Given the description of an element on the screen output the (x, y) to click on. 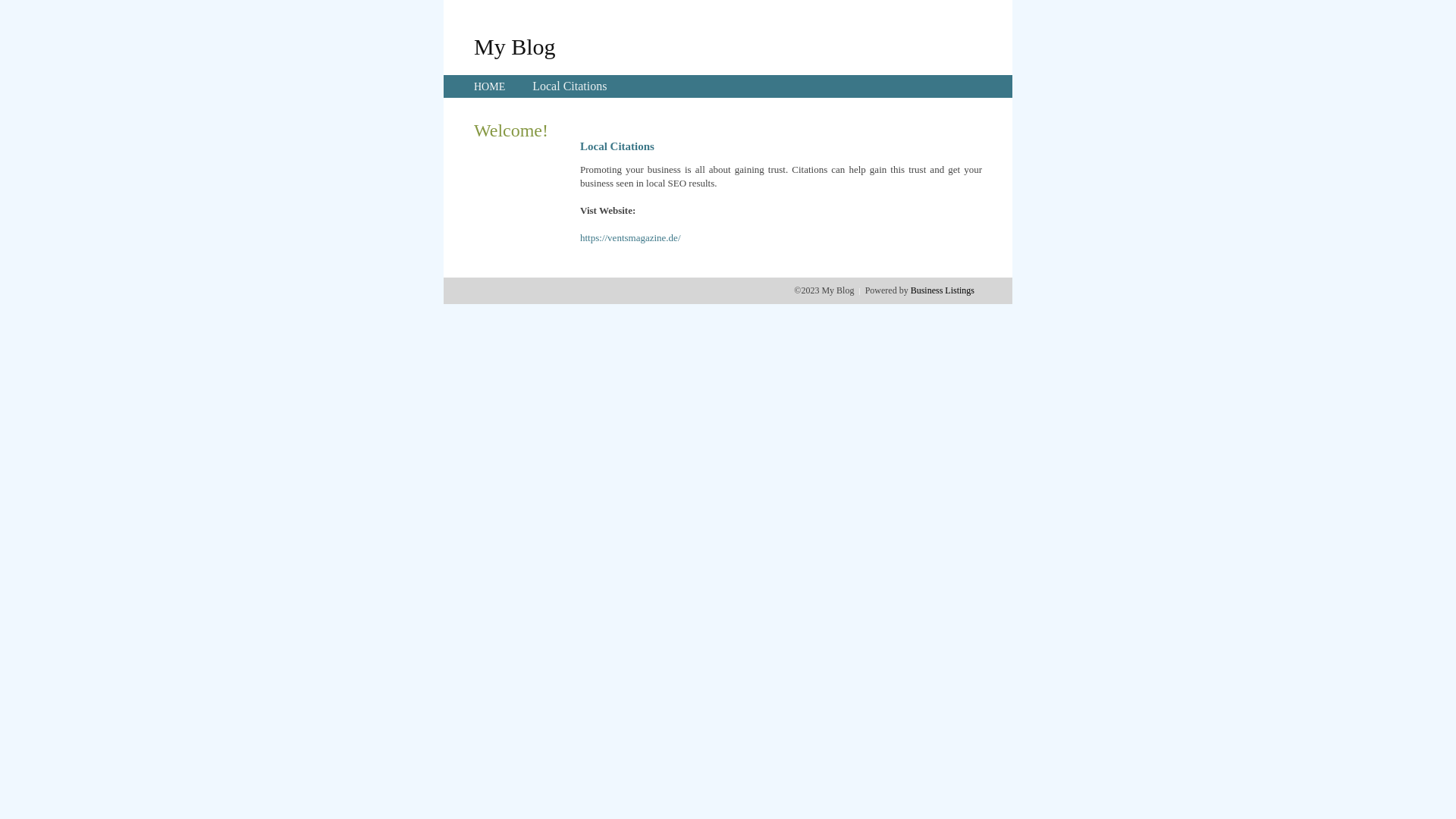
https://ventsmagazine.de/ Element type: text (630, 237)
Local Citations Element type: text (569, 85)
Business Listings Element type: text (942, 290)
My Blog Element type: text (514, 46)
HOME Element type: text (489, 86)
